Given the description of an element on the screen output the (x, y) to click on. 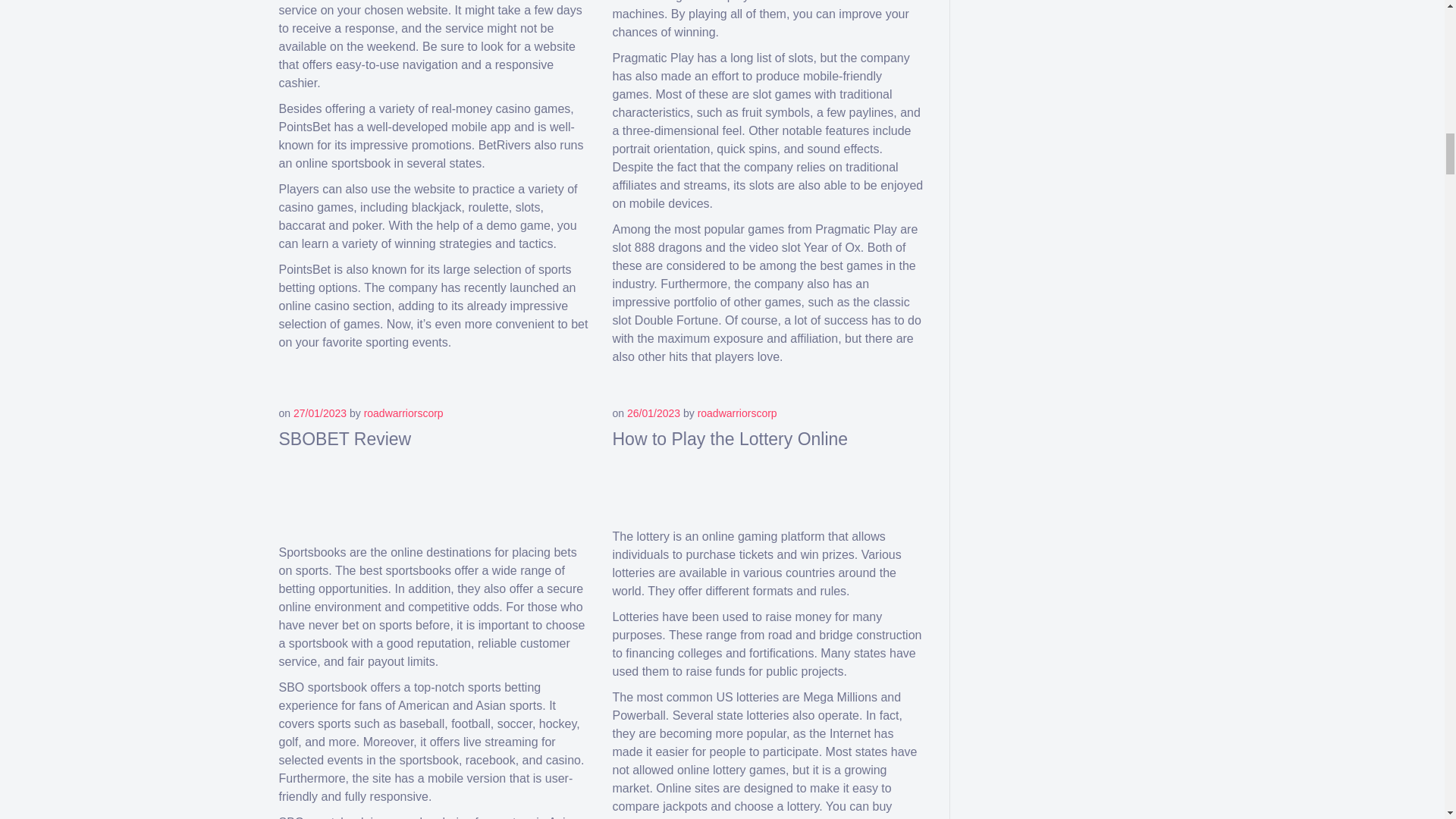
SBOBET Review (345, 438)
roadwarriorscorp (737, 413)
roadwarriorscorp (404, 413)
How to Play the Lottery Online (730, 438)
